Given the description of an element on the screen output the (x, y) to click on. 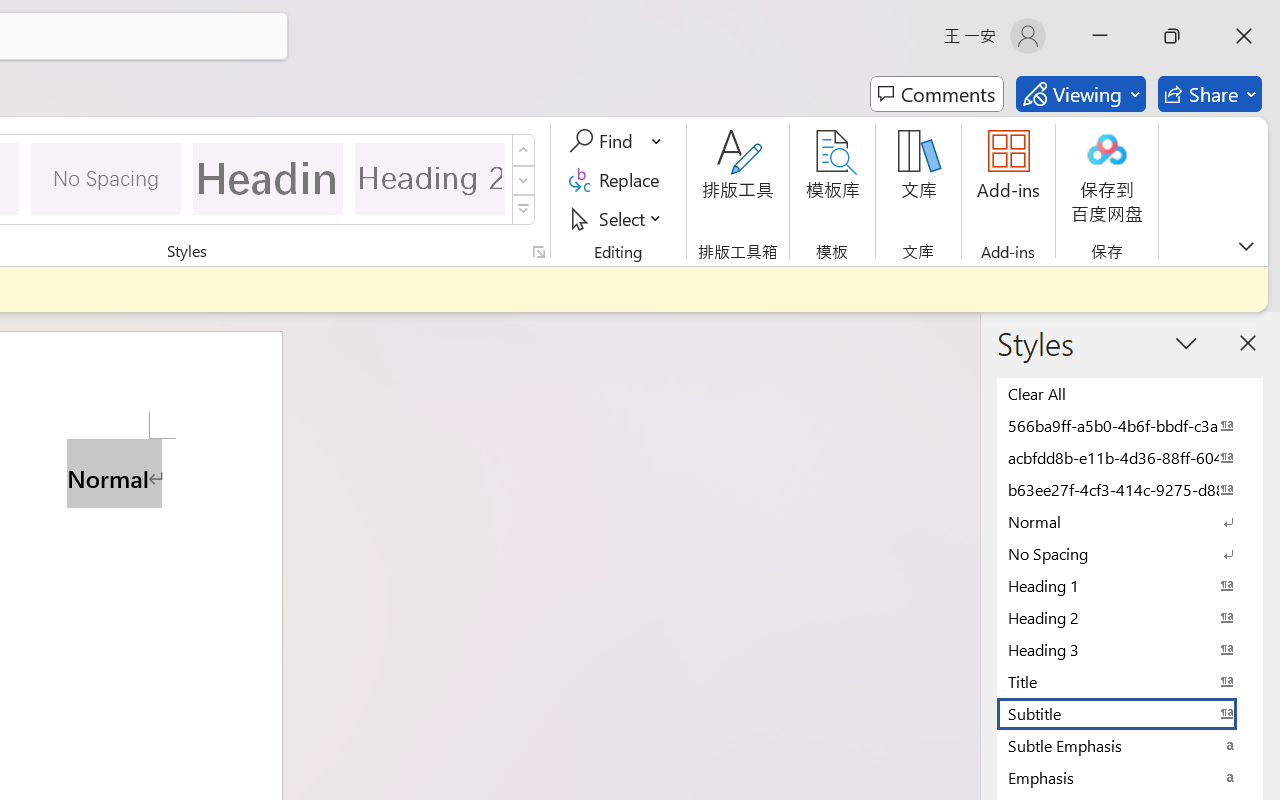
Select (618, 218)
Title (1130, 681)
Subtle Emphasis (1130, 745)
566ba9ff-a5b0-4b6f-bbdf-c3ab41993fc2 (1130, 425)
Heading 2 (429, 178)
acbfdd8b-e11b-4d36-88ff-6049b138f862 (1130, 457)
Mode (1080, 94)
Replace... (617, 179)
b63ee27f-4cf3-414c-9275-d88e3f90795e (1130, 489)
Row Down (523, 180)
